Given the description of an element on the screen output the (x, y) to click on. 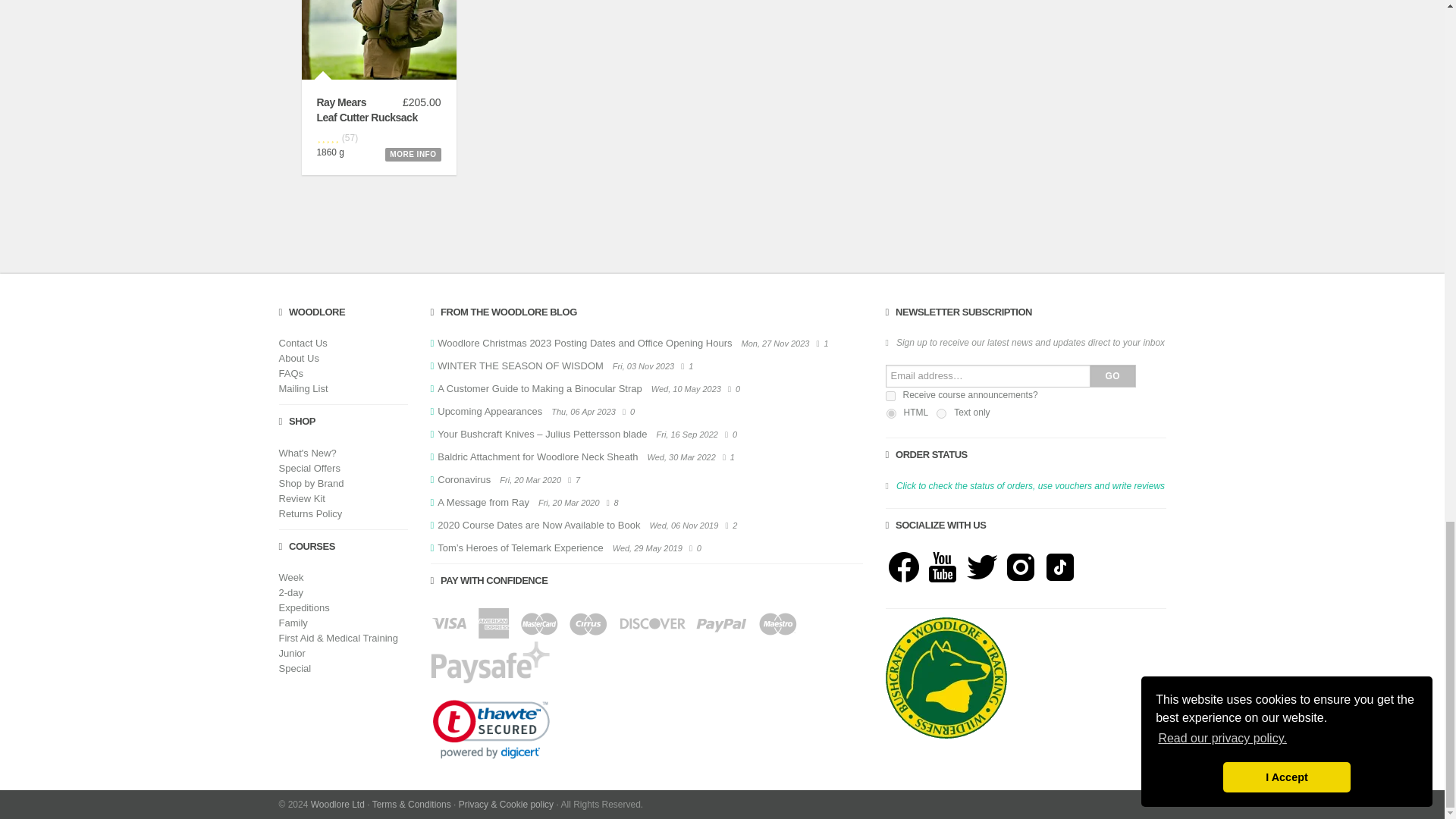
1 (890, 396)
html (890, 413)
text (941, 413)
